Given the description of an element on the screen output the (x, y) to click on. 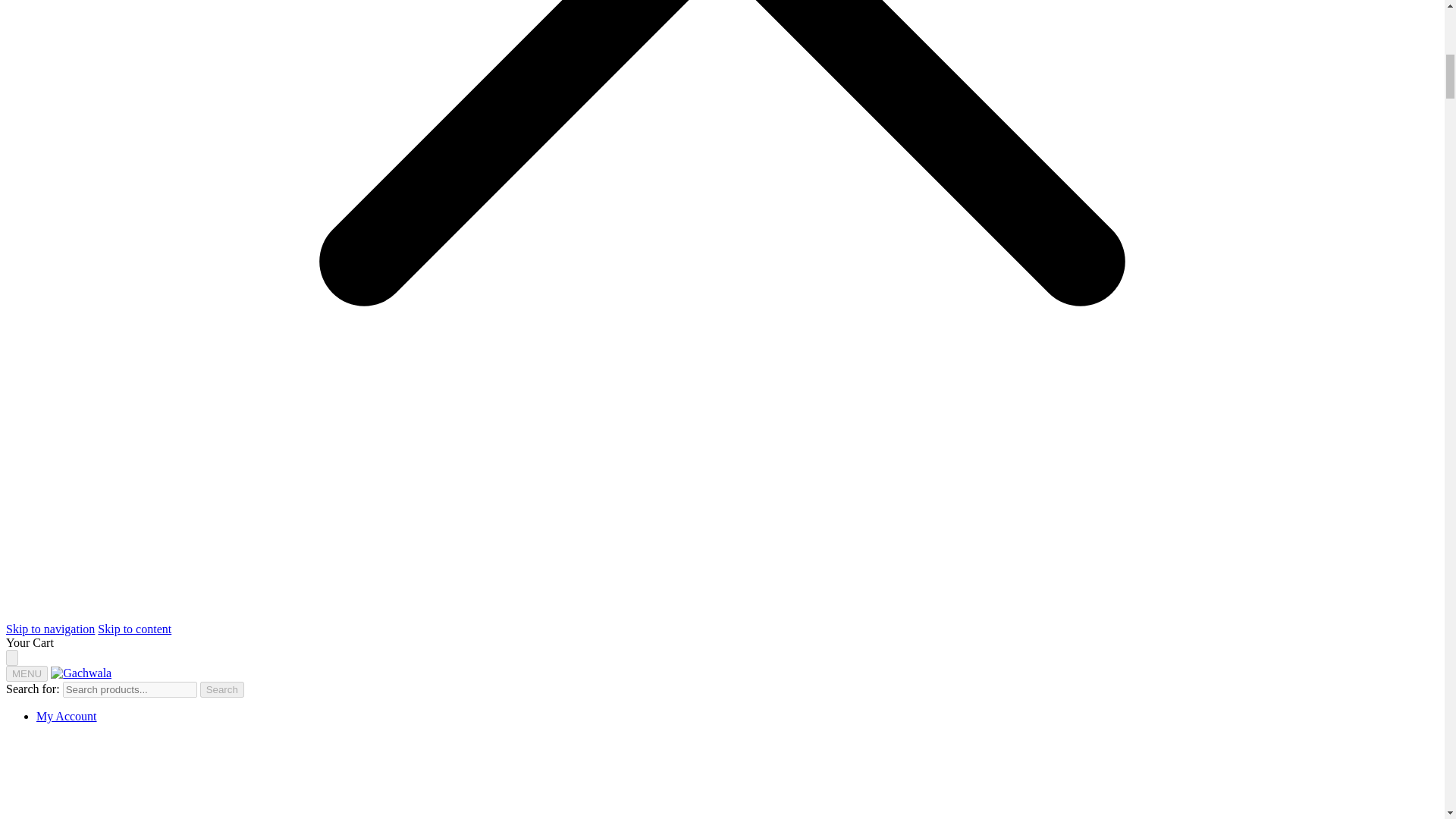
MENU (26, 673)
Skip to content (134, 628)
Skip to navigation (49, 628)
Search (222, 689)
